Given the description of an element on the screen output the (x, y) to click on. 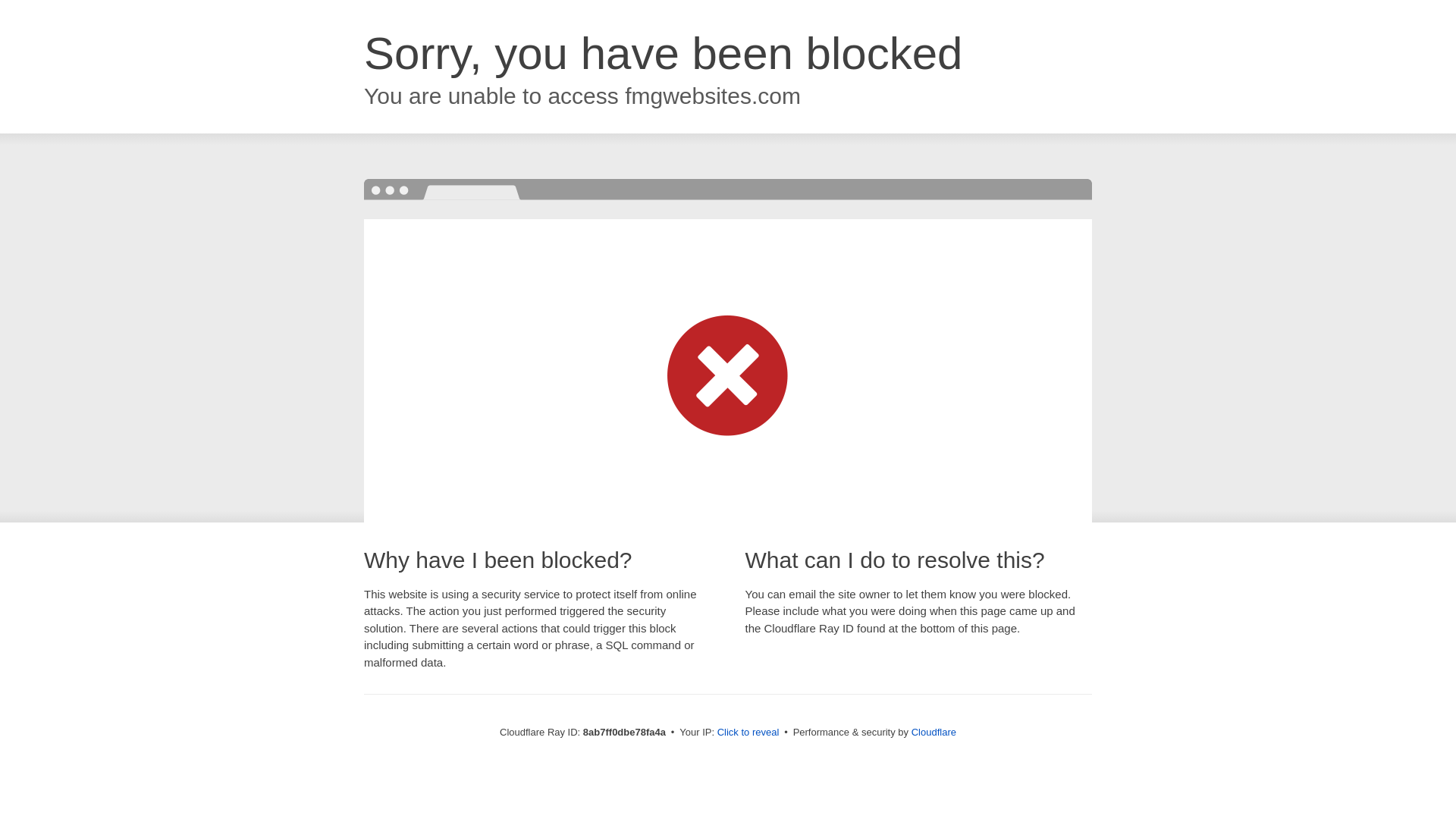
Click to reveal (747, 732)
Cloudflare (933, 731)
